Given the description of an element on the screen output the (x, y) to click on. 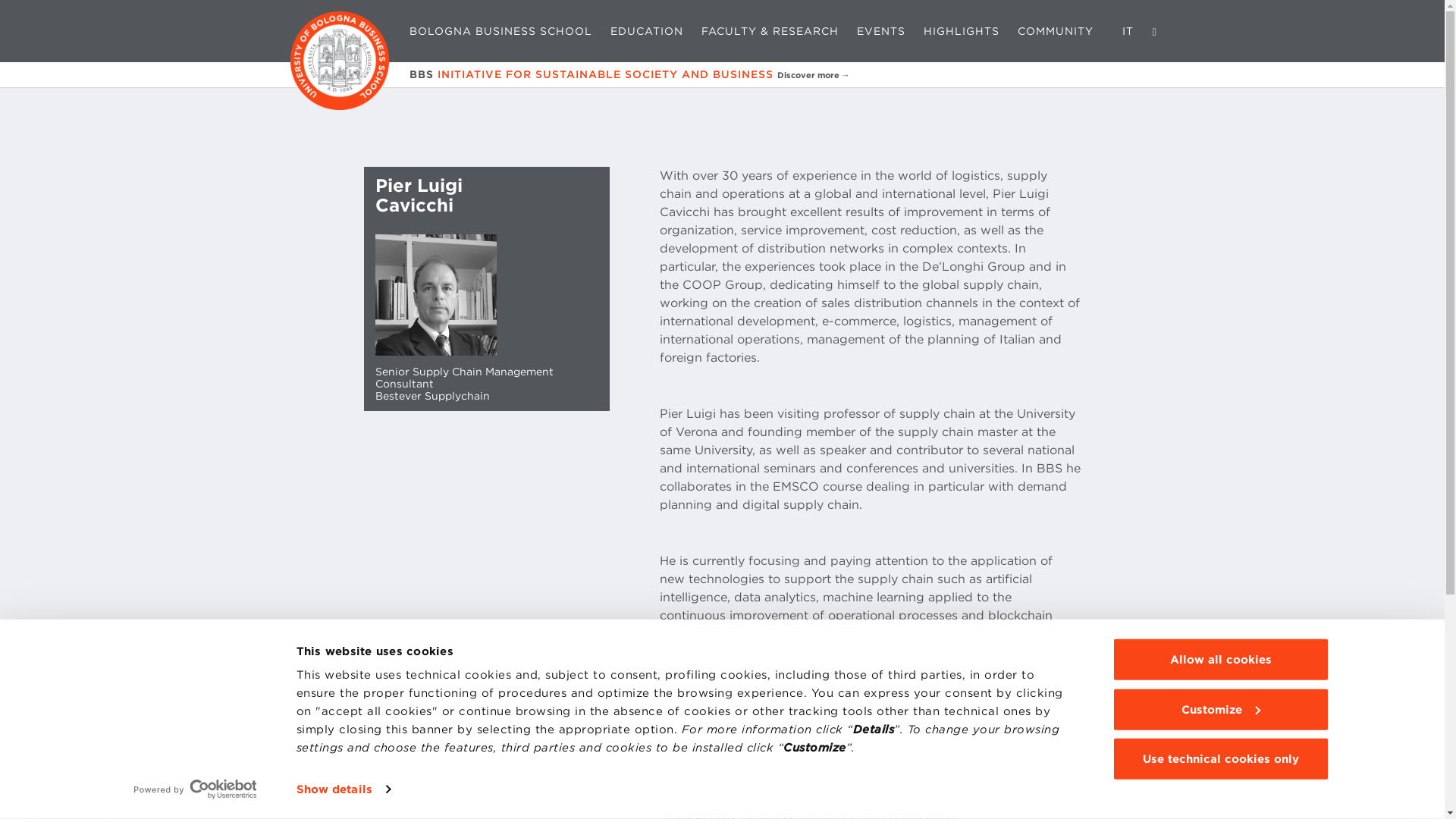
Cerca (1154, 30)
Show details (343, 789)
